Given the description of an element on the screen output the (x, y) to click on. 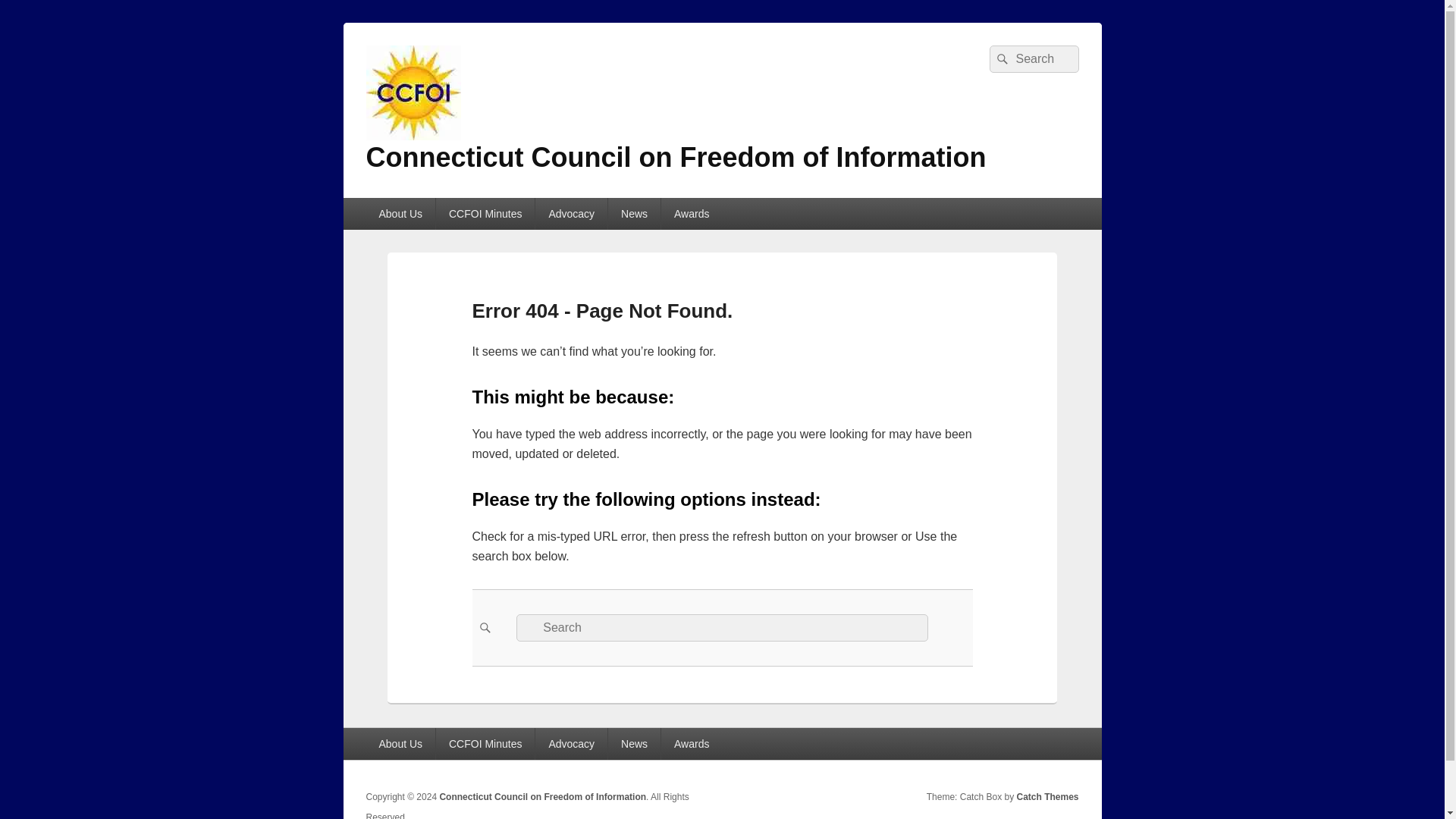
Catch Themes (1047, 796)
Connecticut Council on Freedom of Information (542, 796)
Connecticut Council on Freedom of Information (542, 796)
CCFOI Minutes (484, 214)
Search for: (722, 627)
News (634, 214)
News (634, 744)
CCFOI Minutes (484, 744)
Advocacy (571, 744)
Awards (691, 214)
Advocacy (571, 214)
About Us (400, 214)
Awards (691, 744)
Connecticut Council on Freedom of Information (675, 156)
Search for: (1033, 58)
